Given the description of an element on the screen output the (x, y) to click on. 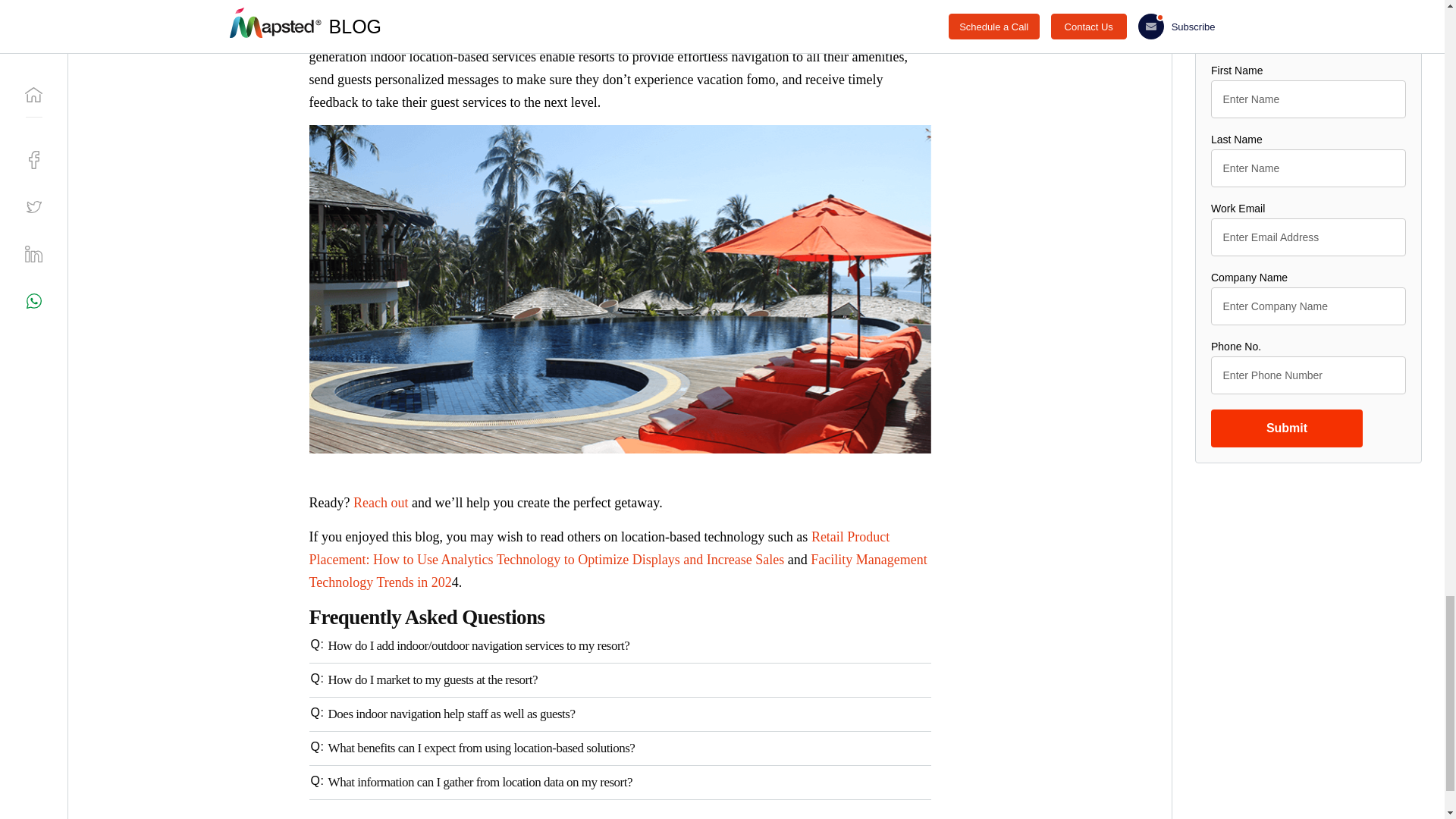
Reach out (380, 502)
Facility Management Technology Trends in 202 (617, 570)
